Given the description of an element on the screen output the (x, y) to click on. 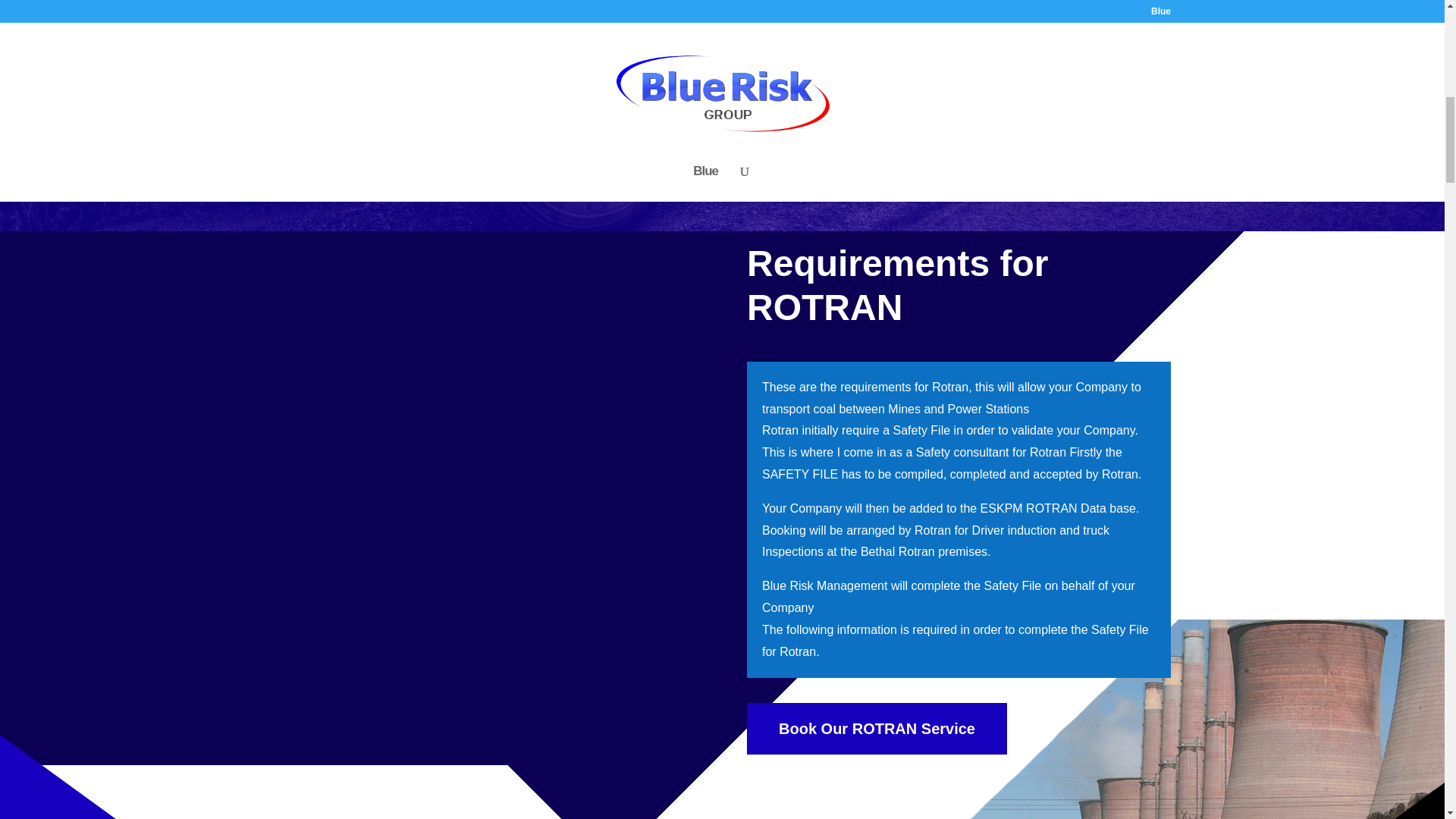
Book Our ROTRAN Service (876, 728)
Book our ROTRAN service ... (280, 173)
